Given the description of an element on the screen output the (x, y) to click on. 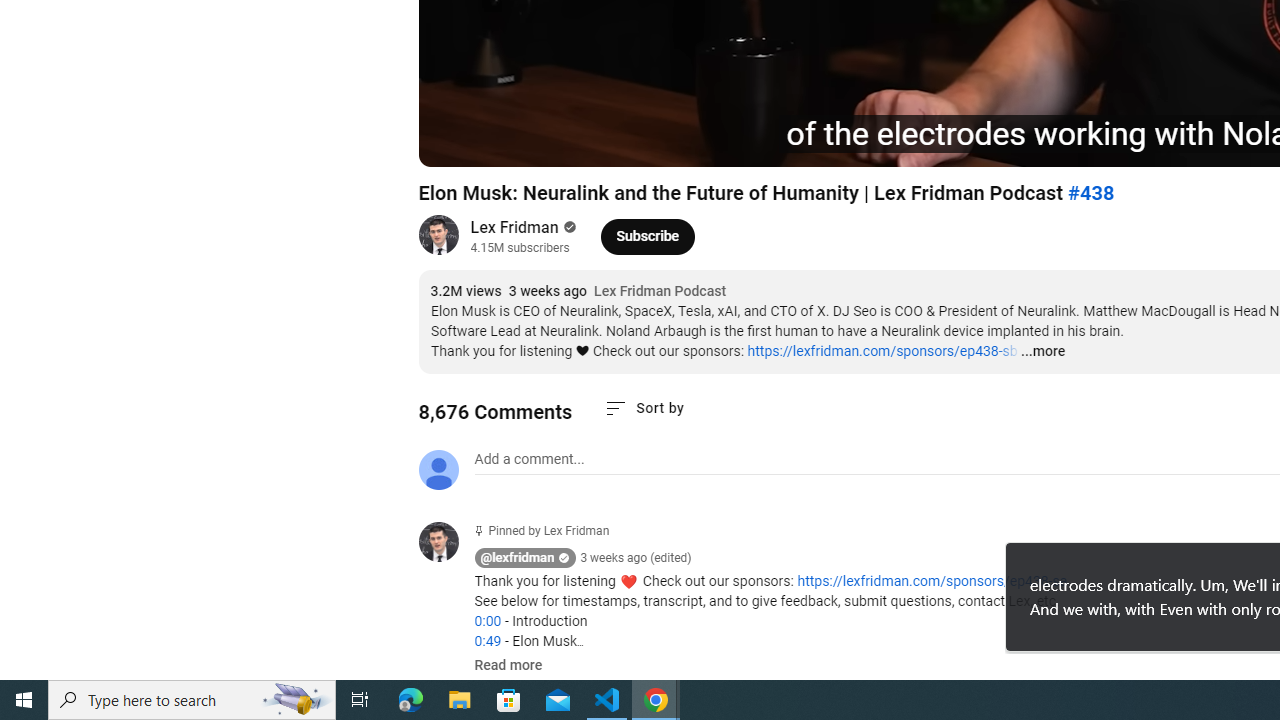
@lexfridman (446, 543)
Next (SHIFT+n) (500, 142)
3 weeks ago (edited) (635, 557)
AutomationID: simplebox-placeholder (528, 459)
Lex Fridman (514, 227)
https://lexfridman.com/sponsors/ep438-sb (882, 351)
...more (1042, 352)
Read more (507, 665)
Verified (567, 227)
Play (k) (453, 142)
0:00 (487, 621)
@lexfridman (517, 557)
Sort comments (644, 408)
0:49 (487, 641)
Default profile photo (438, 470)
